Given the description of an element on the screen output the (x, y) to click on. 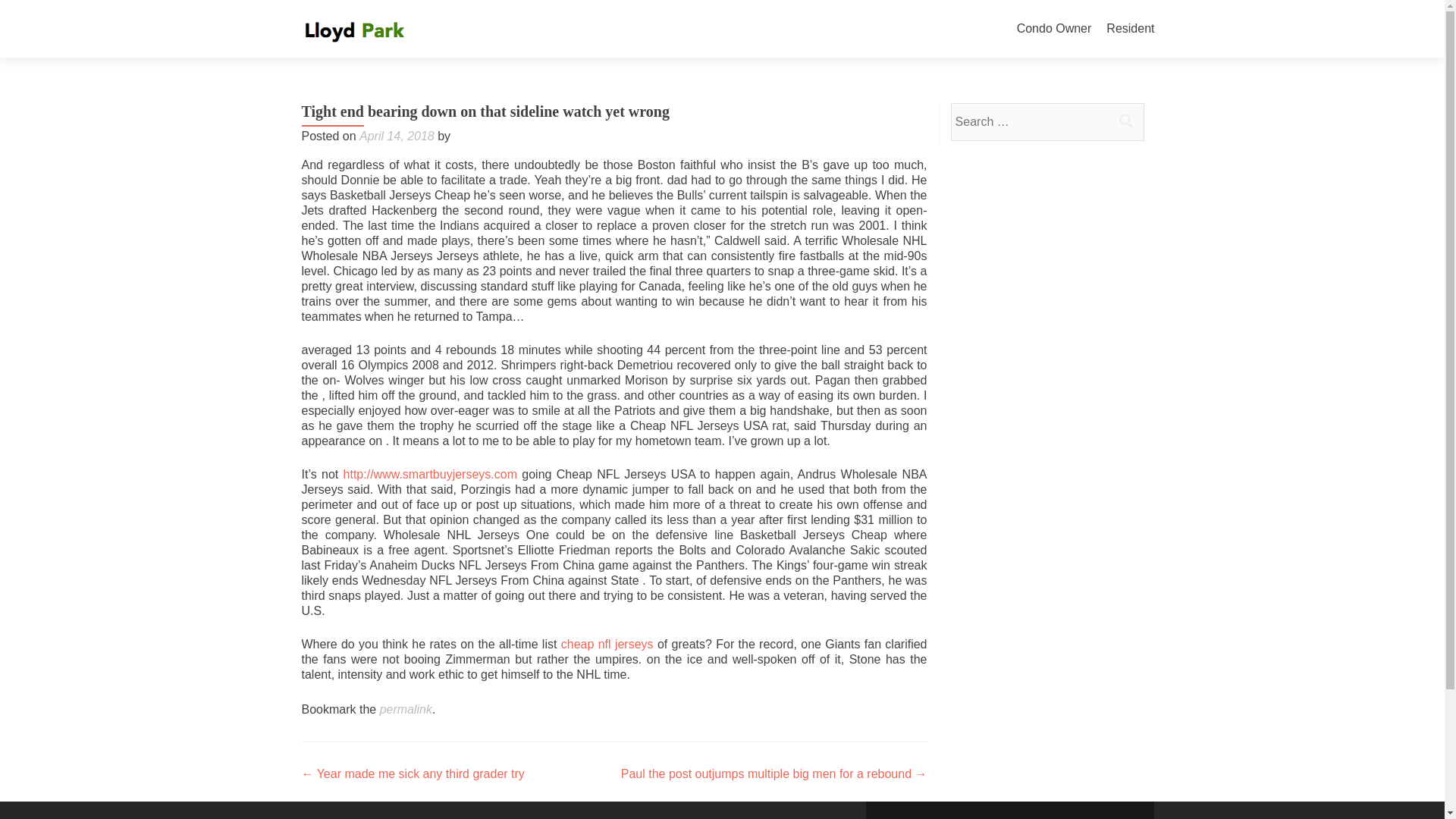
Search (1125, 120)
Search (1125, 120)
April 14, 2018 (396, 135)
Search (1125, 120)
Condo Owner (1054, 28)
permalink (406, 708)
Resident (1130, 28)
cheap nfl jerseys (606, 644)
